Given the description of an element on the screen output the (x, y) to click on. 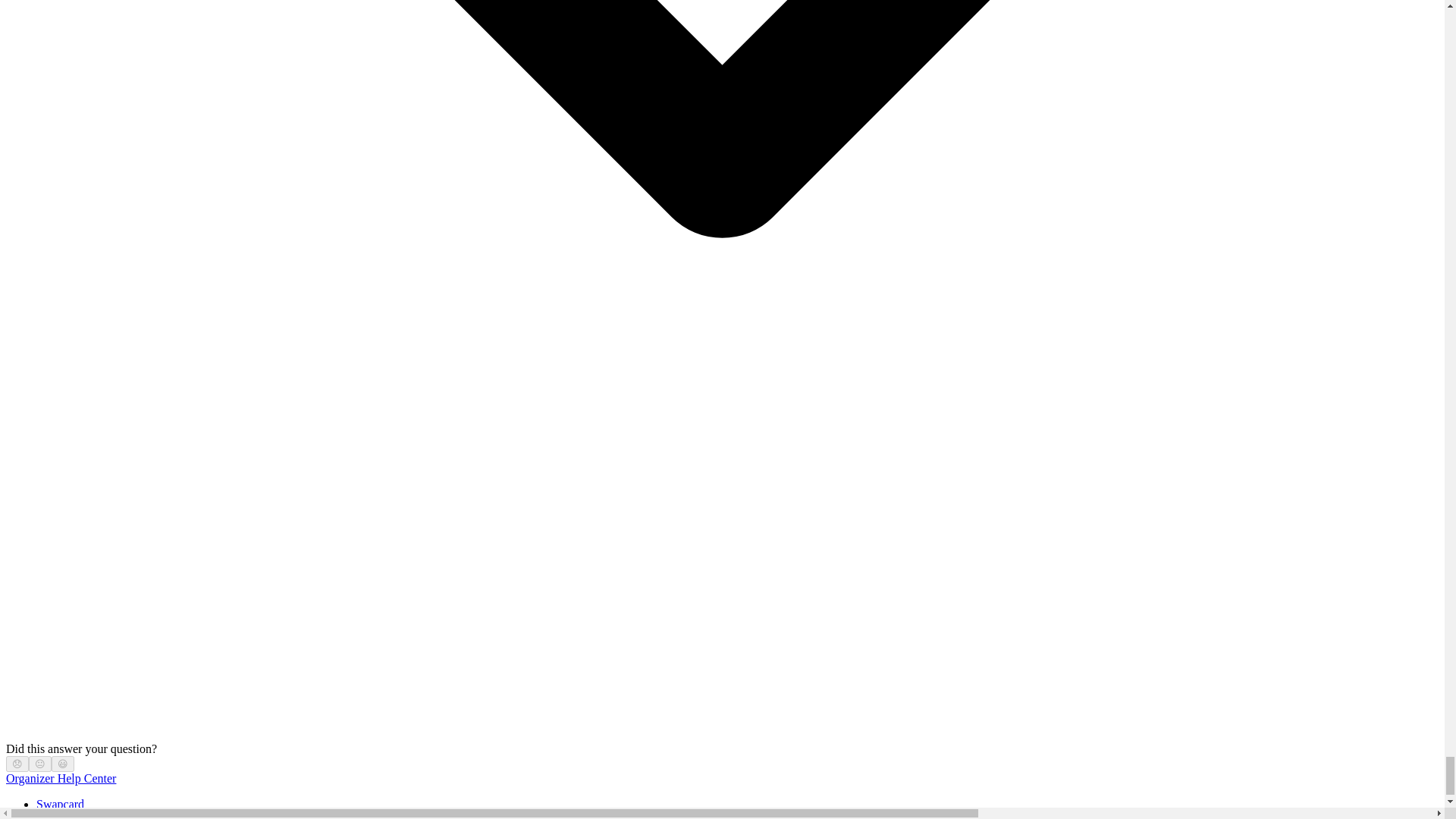
Organizer Help Center (60, 778)
Neutral (39, 763)
Swapcard (60, 803)
Disappointed (17, 763)
Smiley (63, 763)
